Given the description of an element on the screen output the (x, y) to click on. 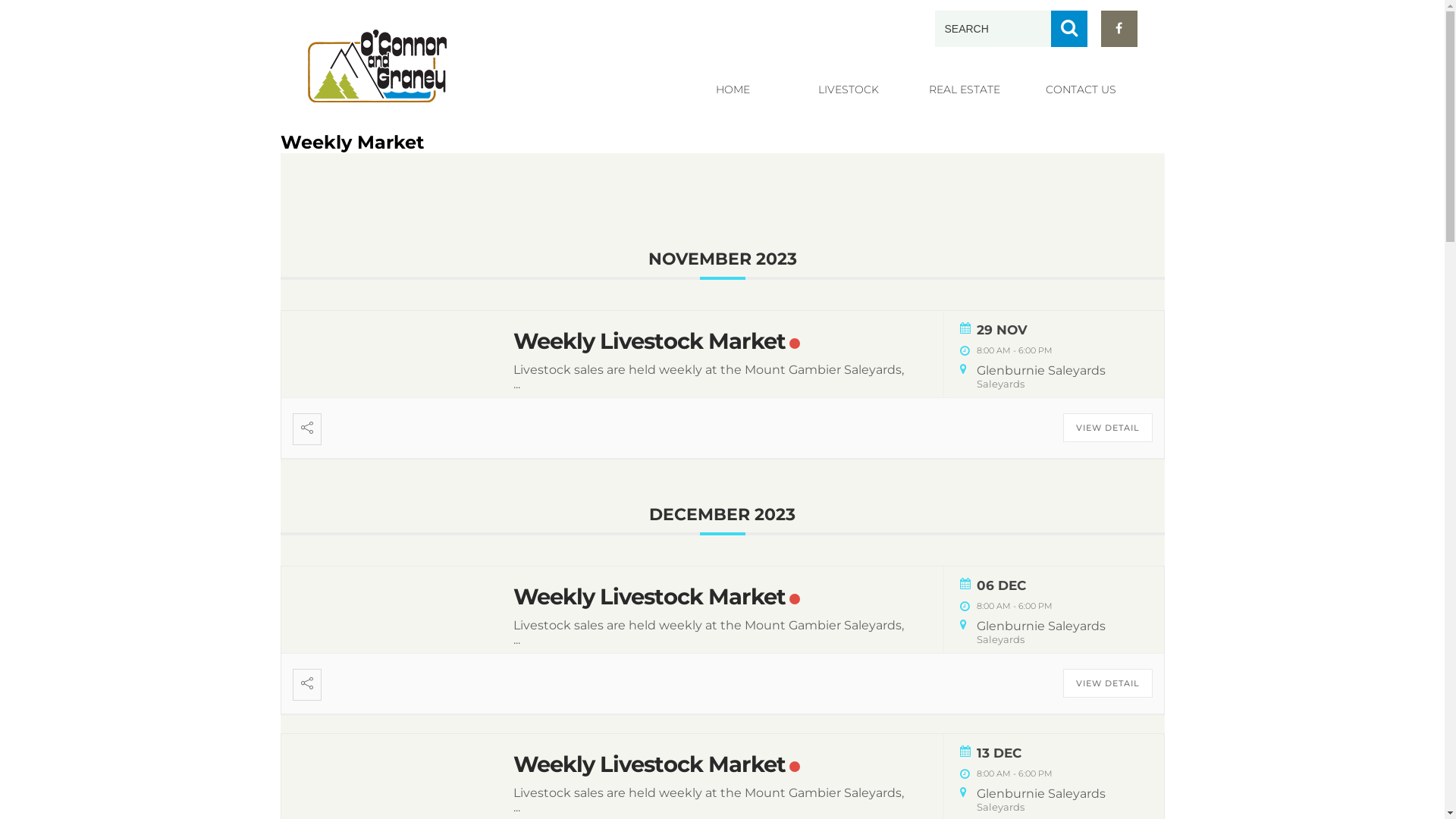
Weekly Livestock Market Element type: text (648, 340)
CONTACT US Element type: text (1079, 89)
LIVESTOCK Element type: text (847, 89)
VIEW DETAIL Element type: text (1107, 682)
VIEW DETAIL Element type: text (1107, 427)
Weekly Livestock Market Element type: text (648, 596)
HOME Element type: text (732, 89)
REAL ESTATE Element type: text (964, 89)
Weekly Livestock Market Element type: text (648, 763)
